Given the description of an element on the screen output the (x, y) to click on. 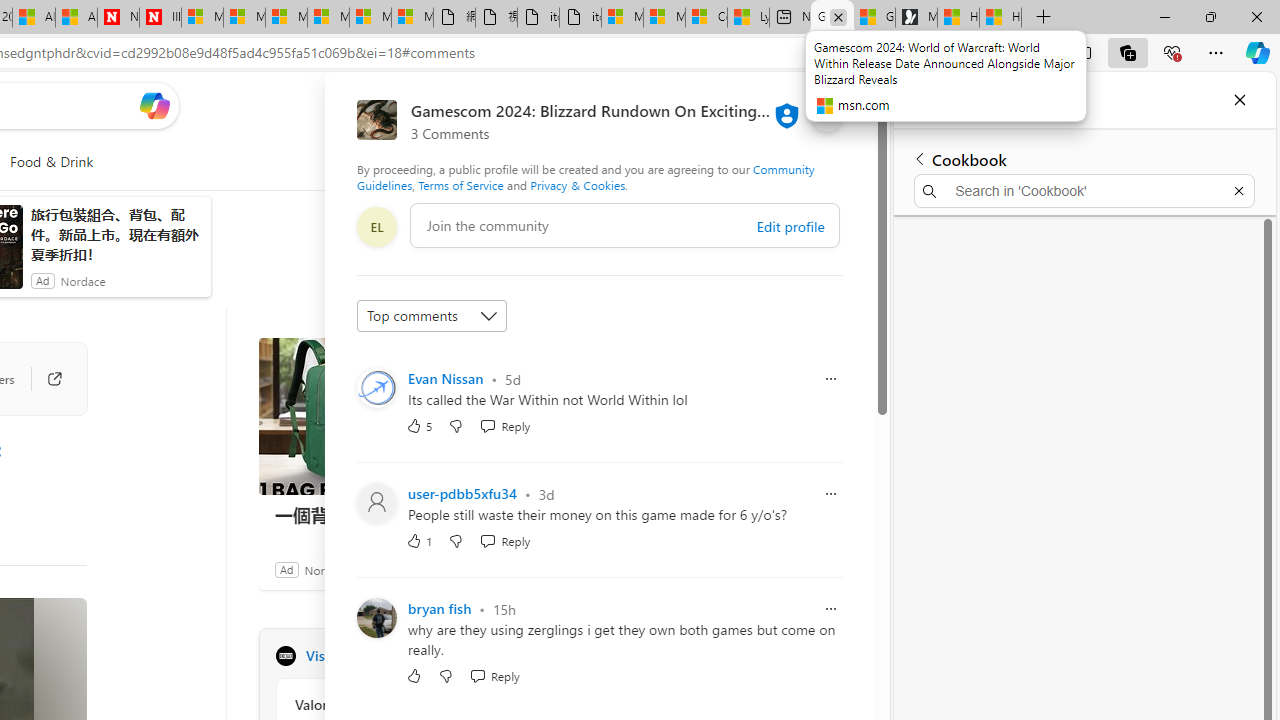
close (827, 115)
Privacy & Cookies (577, 184)
Consumer Health Data Privacy Policy (706, 17)
Evan Nissan (445, 378)
Edit profile (790, 226)
Go to publisher's site (44, 378)
